Given the description of an element on the screen output the (x, y) to click on. 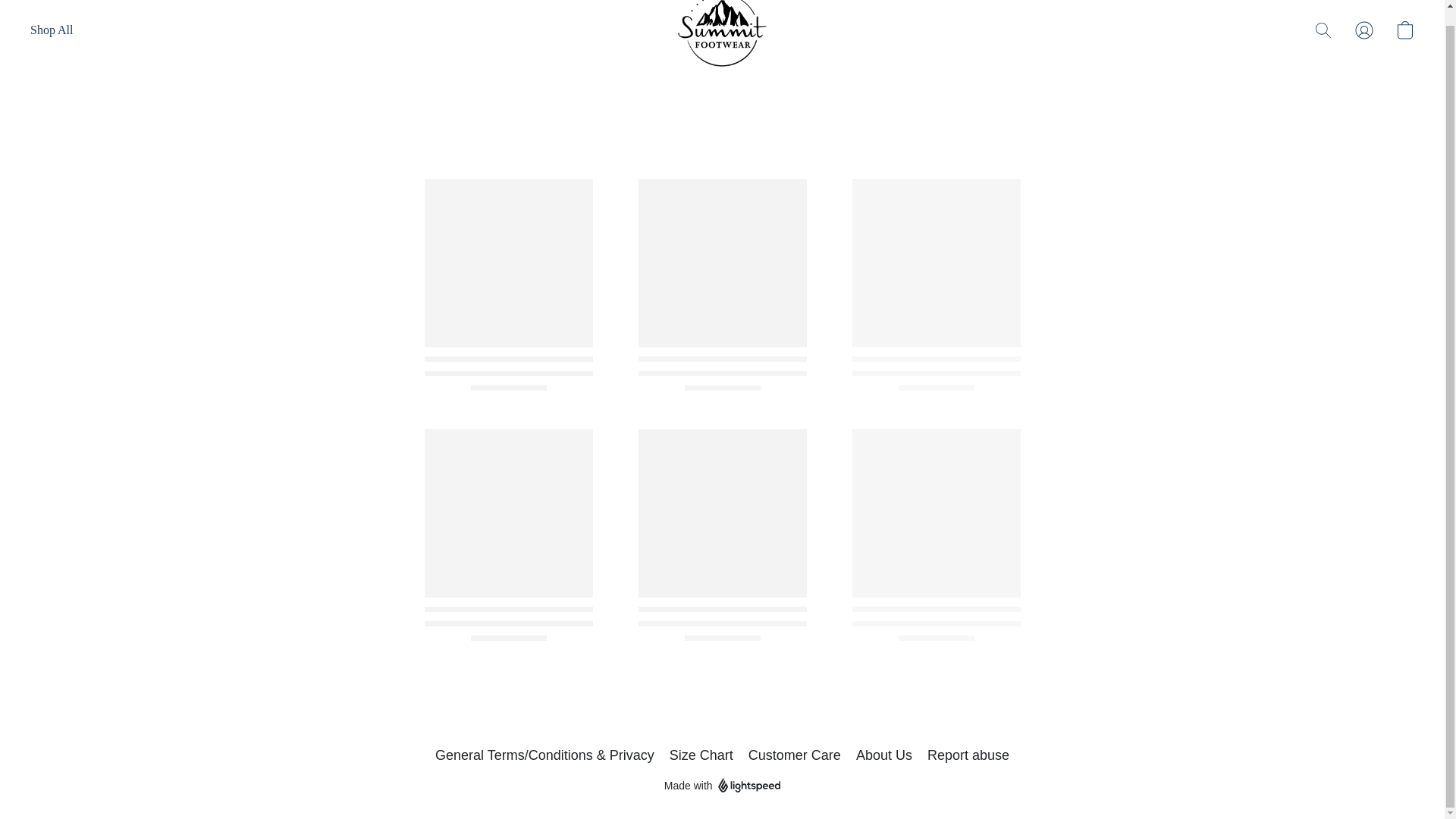
Customer Care (794, 754)
About Us (884, 754)
Size Chart (701, 754)
Made with (721, 785)
Report abuse (968, 754)
Search the website (1323, 29)
Shop All (51, 30)
Go to your shopping cart (1404, 29)
